Given the description of an element on the screen output the (x, y) to click on. 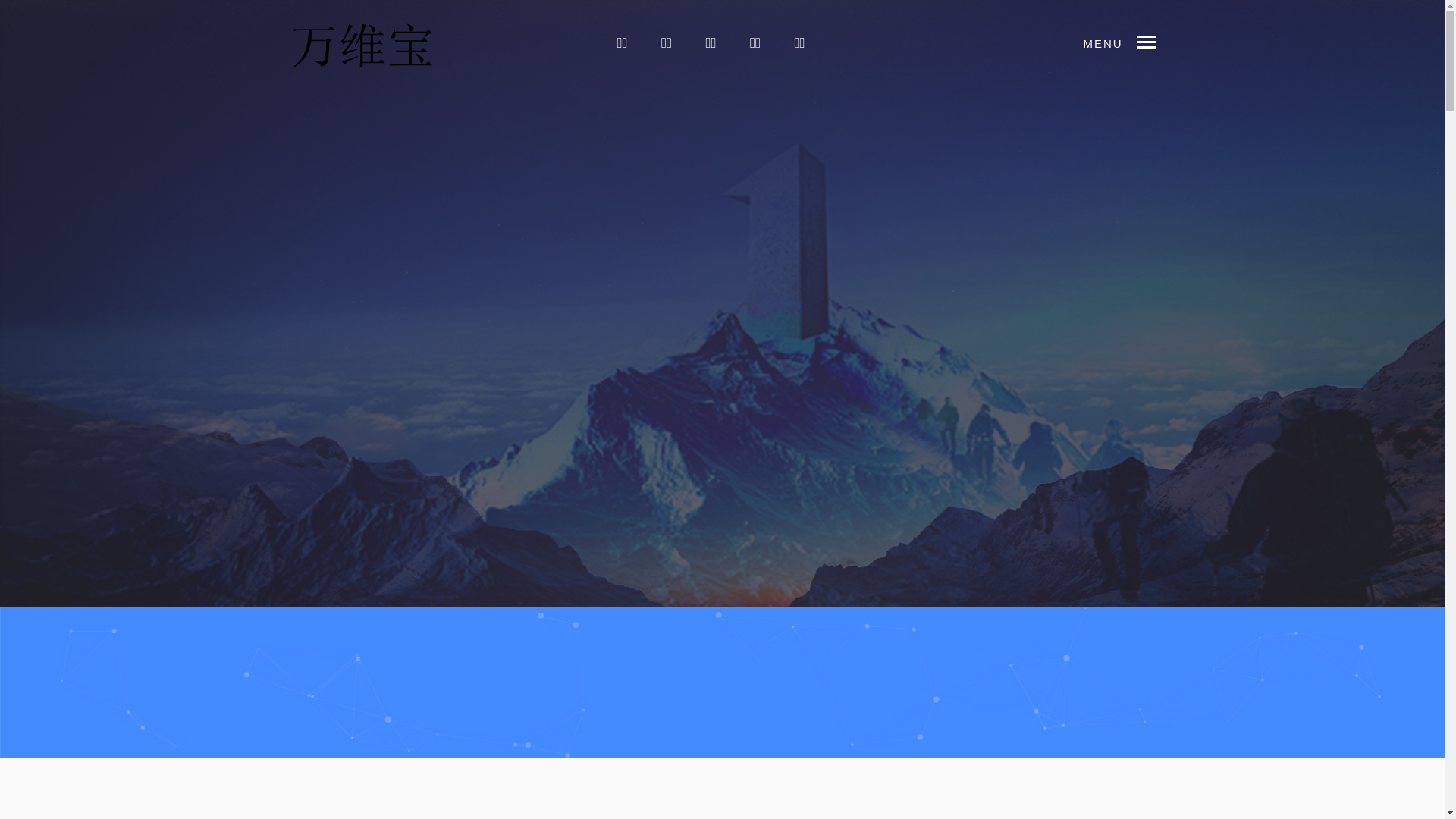
MENU Element type: text (1152, 41)
